Given the description of an element on the screen output the (x, y) to click on. 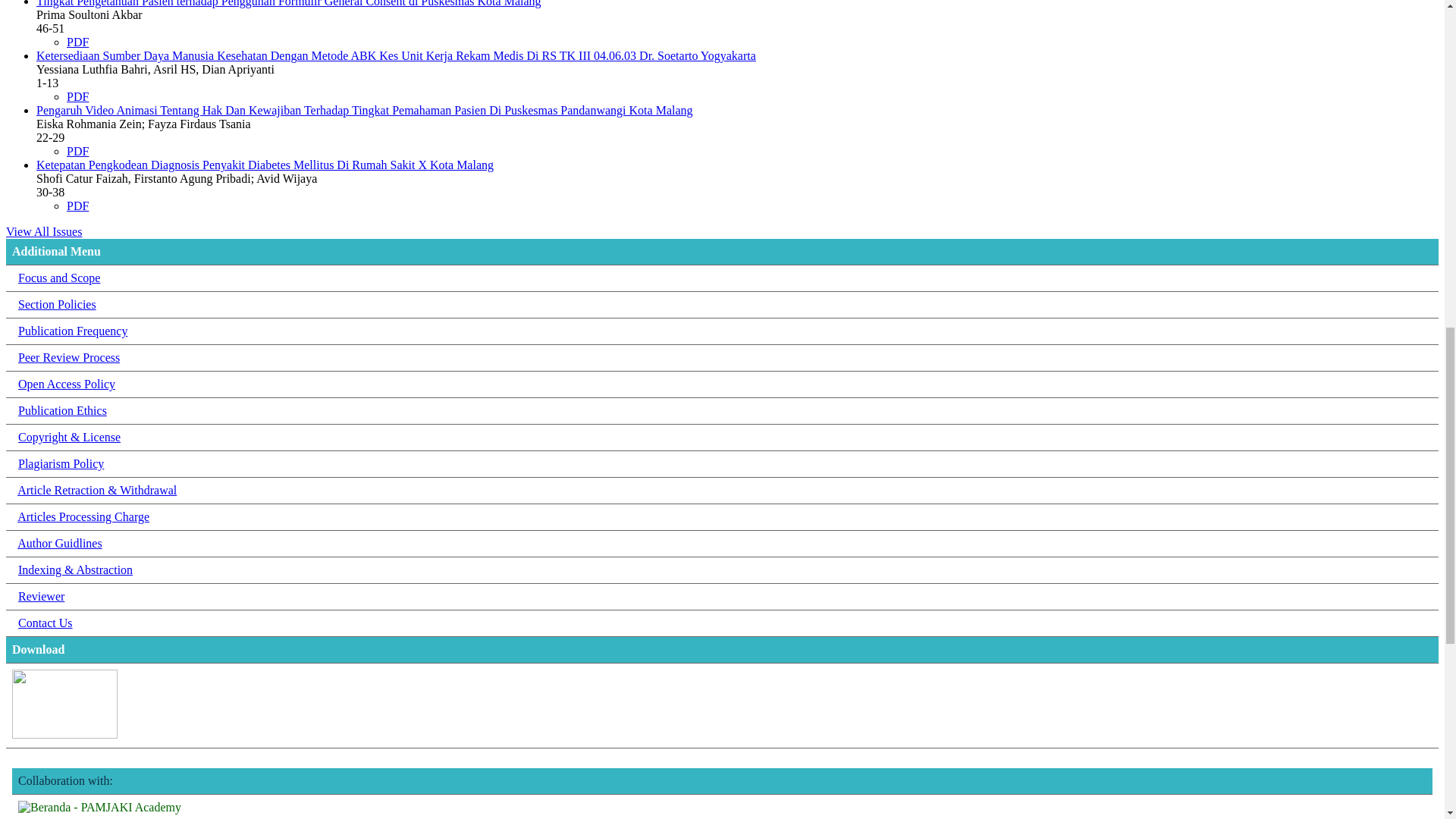
Publication Ethics (61, 410)
Section Policies (56, 304)
PDF (77, 96)
Open Access Policy (66, 383)
Publication Frequency (72, 330)
PDF (77, 205)
PDF (77, 42)
